Given the description of an element on the screen output the (x, y) to click on. 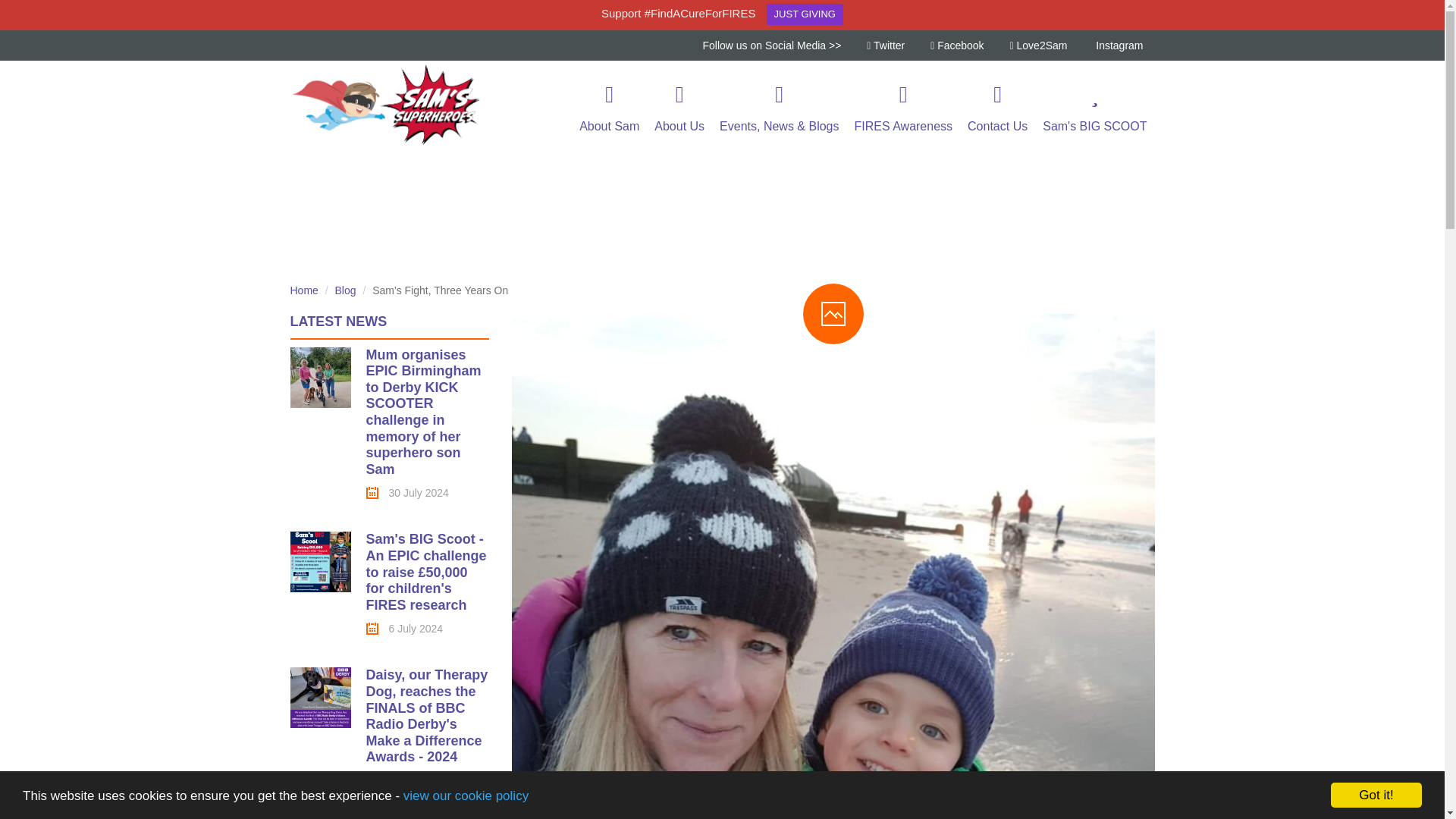
Blog (345, 290)
Sam's BIG SCOOT (1094, 106)
Instagram (1117, 45)
Twitter (885, 45)
Love2Sam (1038, 45)
JUST GIVING (805, 14)
Home (303, 290)
FIRES Awareness (903, 106)
Facebook (956, 45)
